Given the description of an element on the screen output the (x, y) to click on. 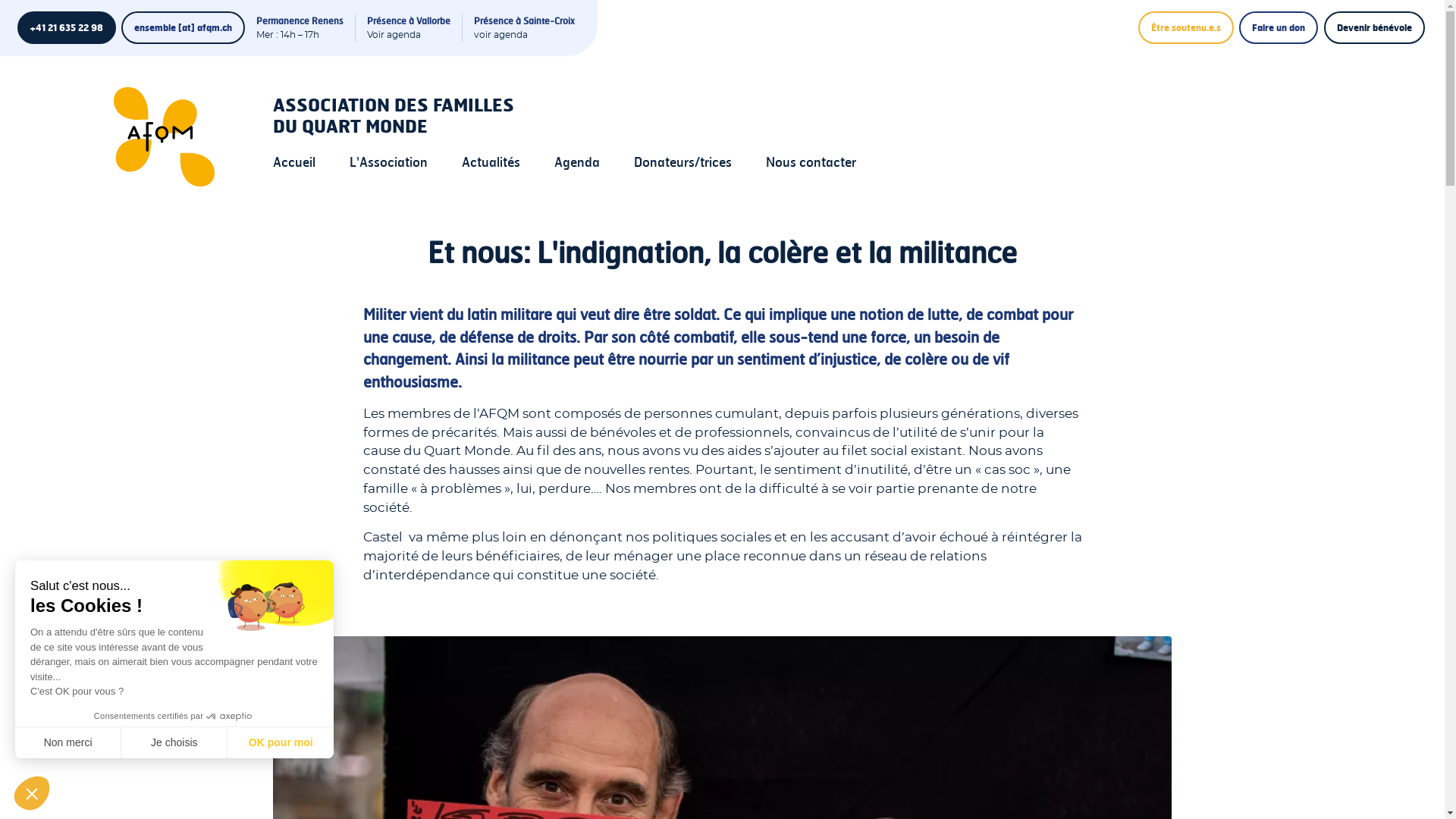
Accueil Element type: text (294, 161)
Non merci Element type: text (68, 742)
+41 21 635 22 98 Element type: text (65, 27)
L'Association Element type: text (388, 161)
Donateurs/trices Element type: text (682, 161)
Je choisis Element type: text (174, 742)
Nous contacter Element type: text (810, 161)
Aller au contenu principal Element type: text (0, 0)
Agenda Element type: text (576, 161)
Accueil Element type: hover (175, 136)
OK pour moi Element type: text (280, 742)
Faire un don Element type: text (1278, 27)
ensemble [at] afqm.ch Element type: text (182, 27)
Fermer le widget sans consentement Element type: hover (31, 793)
